Given the description of an element on the screen output the (x, y) to click on. 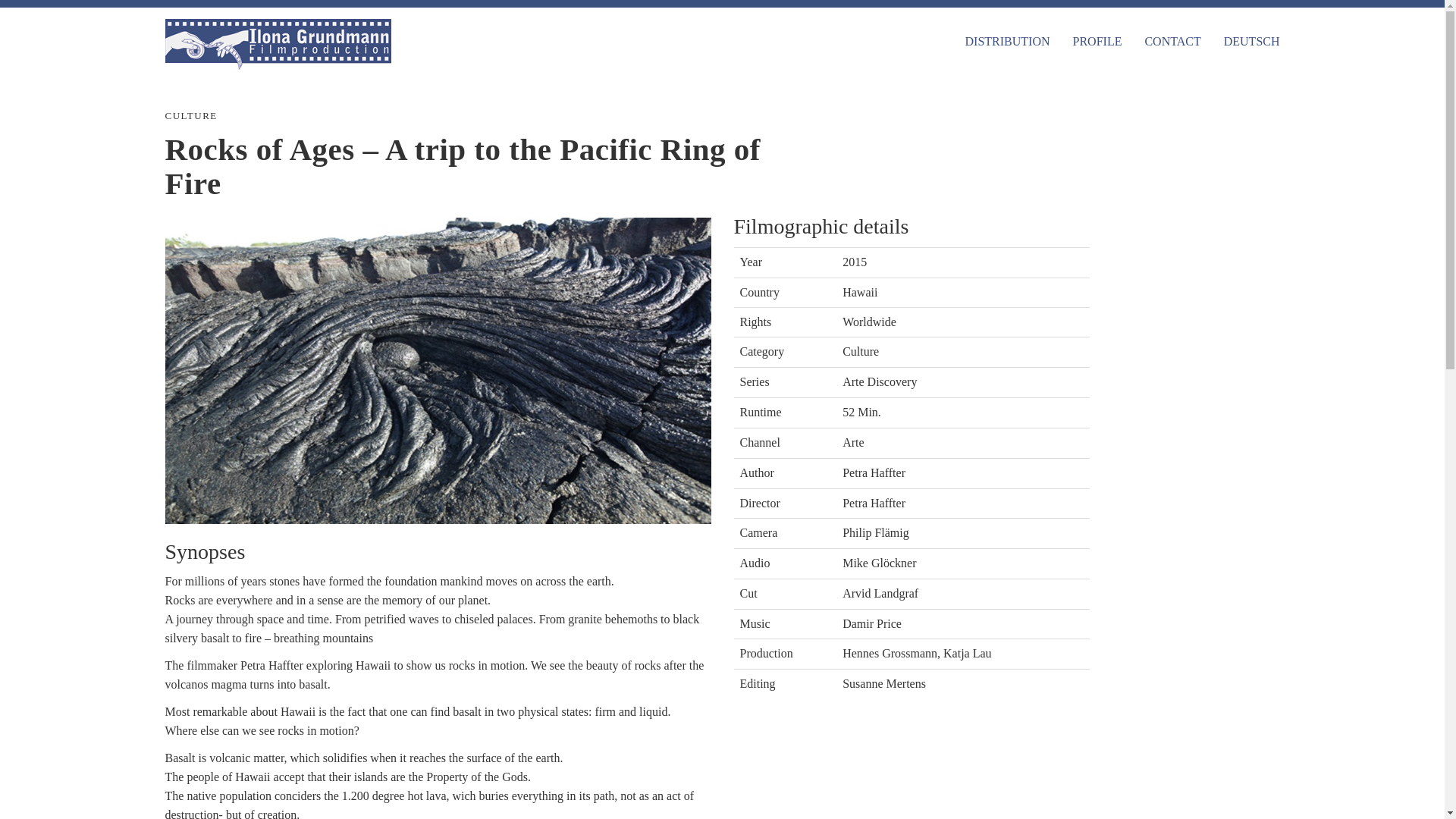
Arte Discovery (880, 381)
CULTURE (190, 115)
Contact (1171, 41)
Distribution (1007, 41)
Deutsch (1251, 41)
Profile (1097, 41)
DEUTSCH (1251, 41)
DISTRIBUTION (1007, 41)
PROFILE (1097, 41)
Culture (861, 350)
